Given the description of an element on the screen output the (x, y) to click on. 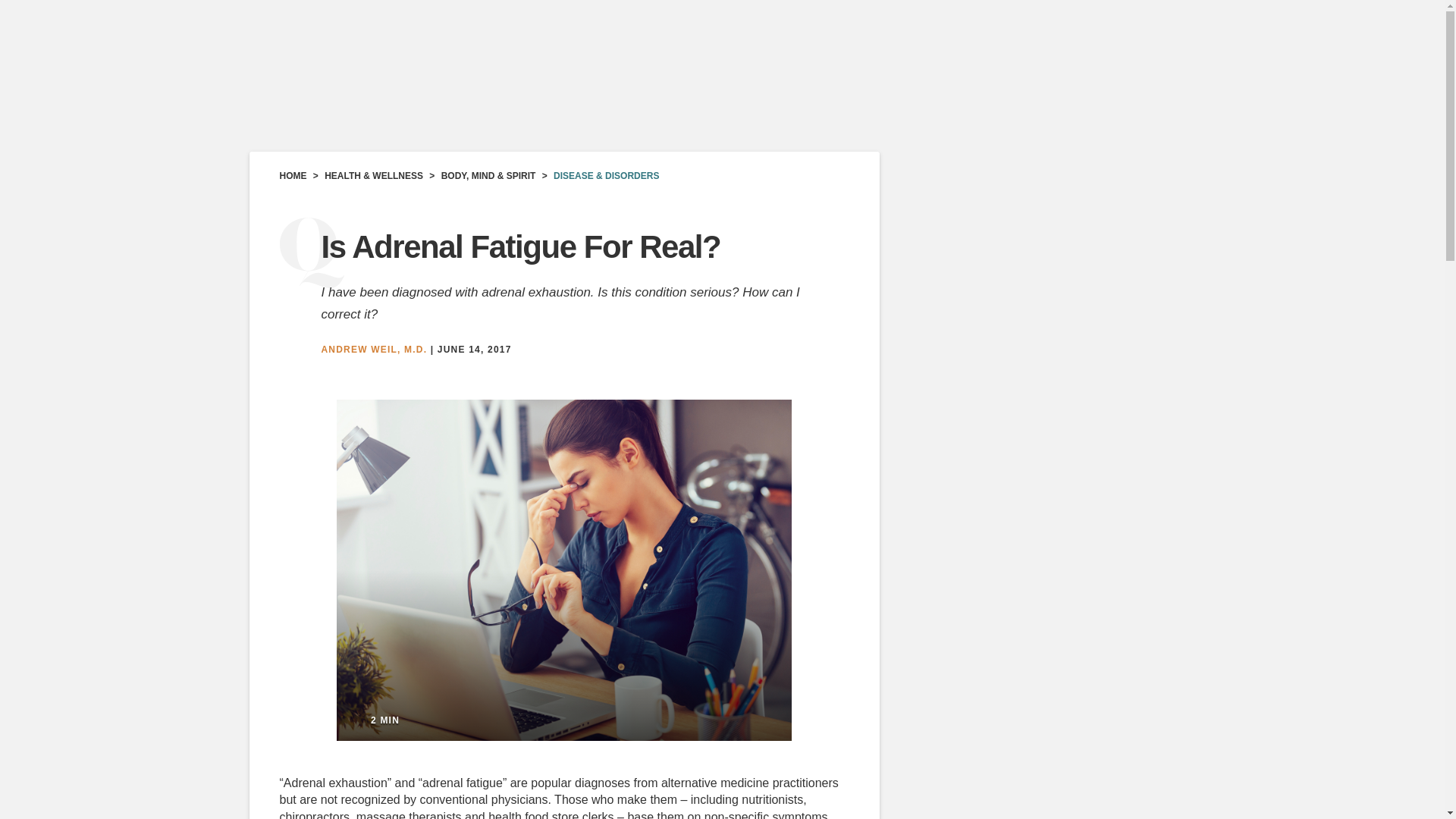
Andrew Weil, M.D. (374, 348)
